Given the description of an element on the screen output the (x, y) to click on. 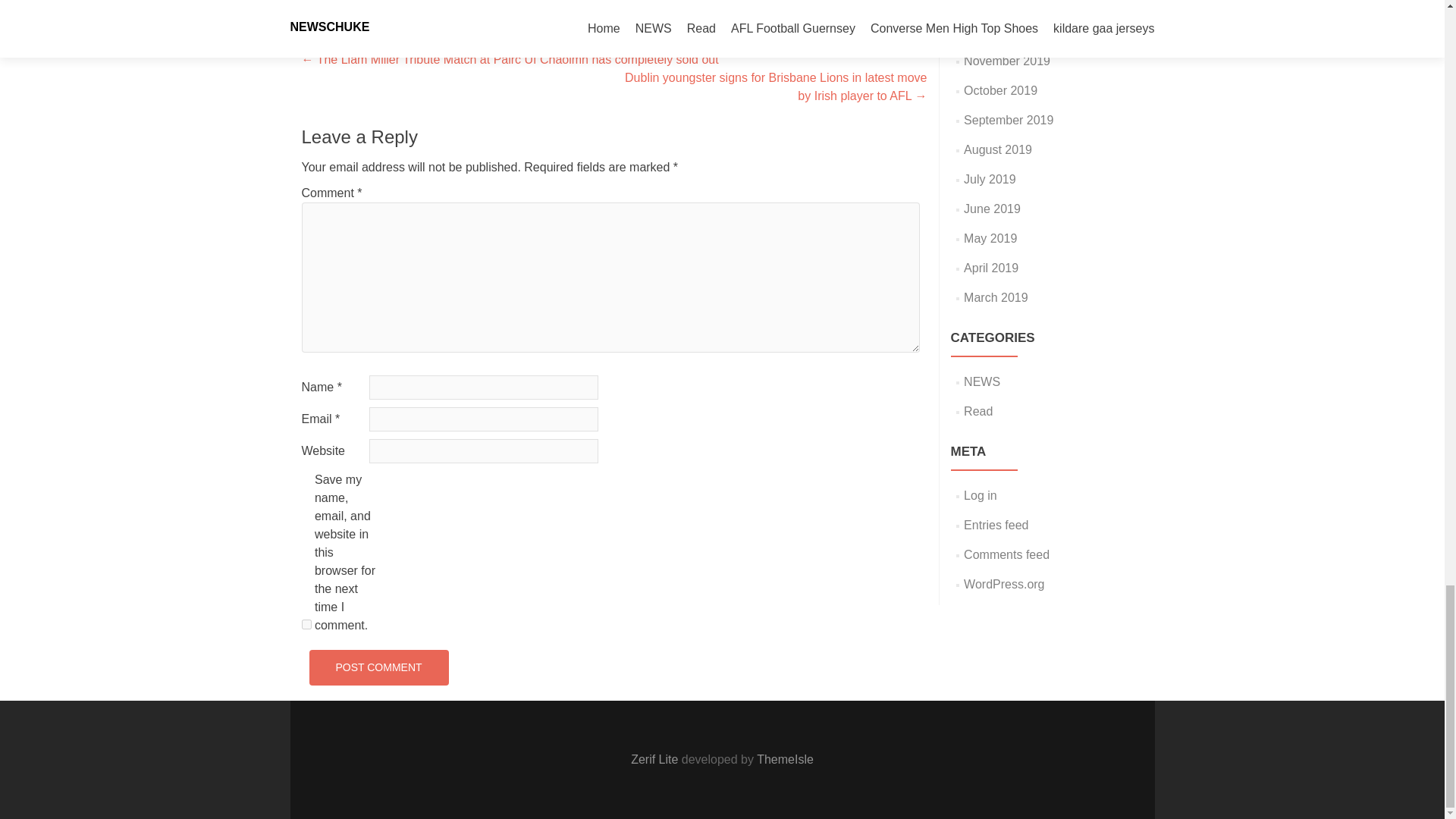
yes (306, 624)
Post Comment (378, 667)
NEWS (453, 0)
Post Comment (378, 667)
permalink (583, 0)
